Given the description of an element on the screen output the (x, y) to click on. 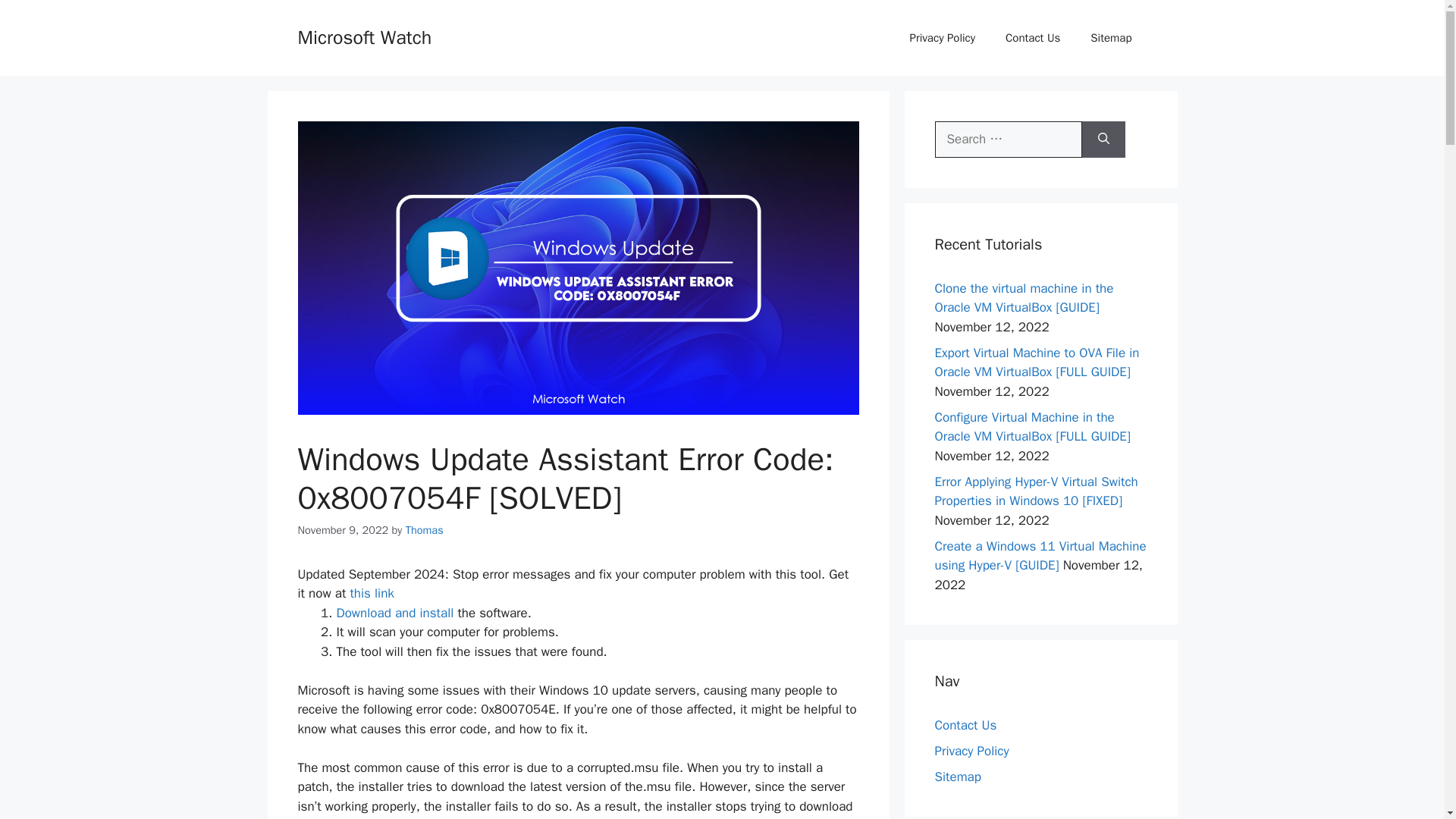
Microsoft Watch (363, 37)
Contact Us (964, 725)
Download and install (395, 612)
Sitemap (1111, 37)
Thomas (425, 530)
Search for: (1007, 139)
Sitemap (956, 776)
Contact Us (1032, 37)
Privacy Policy (971, 750)
Privacy Policy (941, 37)
